Given the description of an element on the screen output the (x, y) to click on. 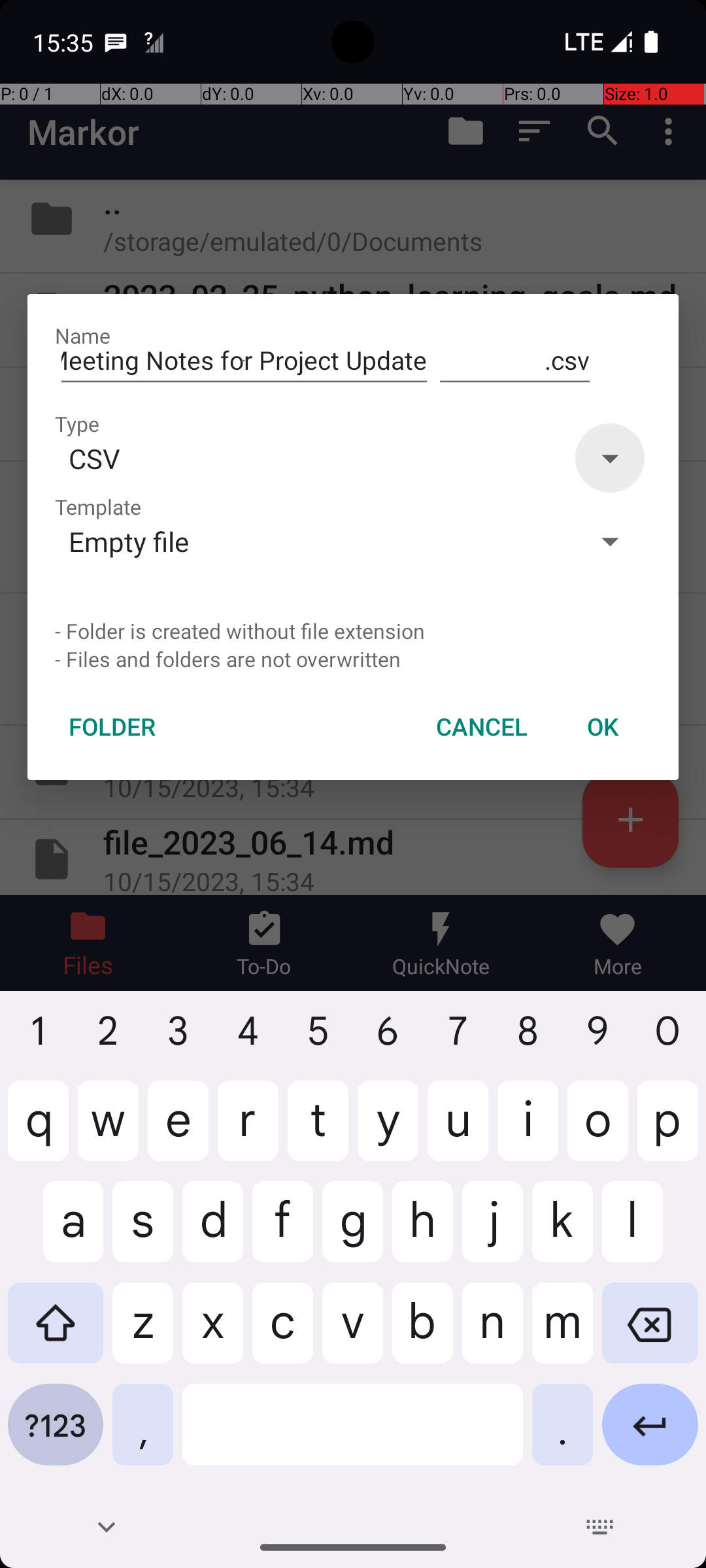
Meeting Notes for Project Update Element type: android.widget.EditText (243, 360)
.csv Element type: android.widget.EditText (514, 360)
